Given the description of an element on the screen output the (x, y) to click on. 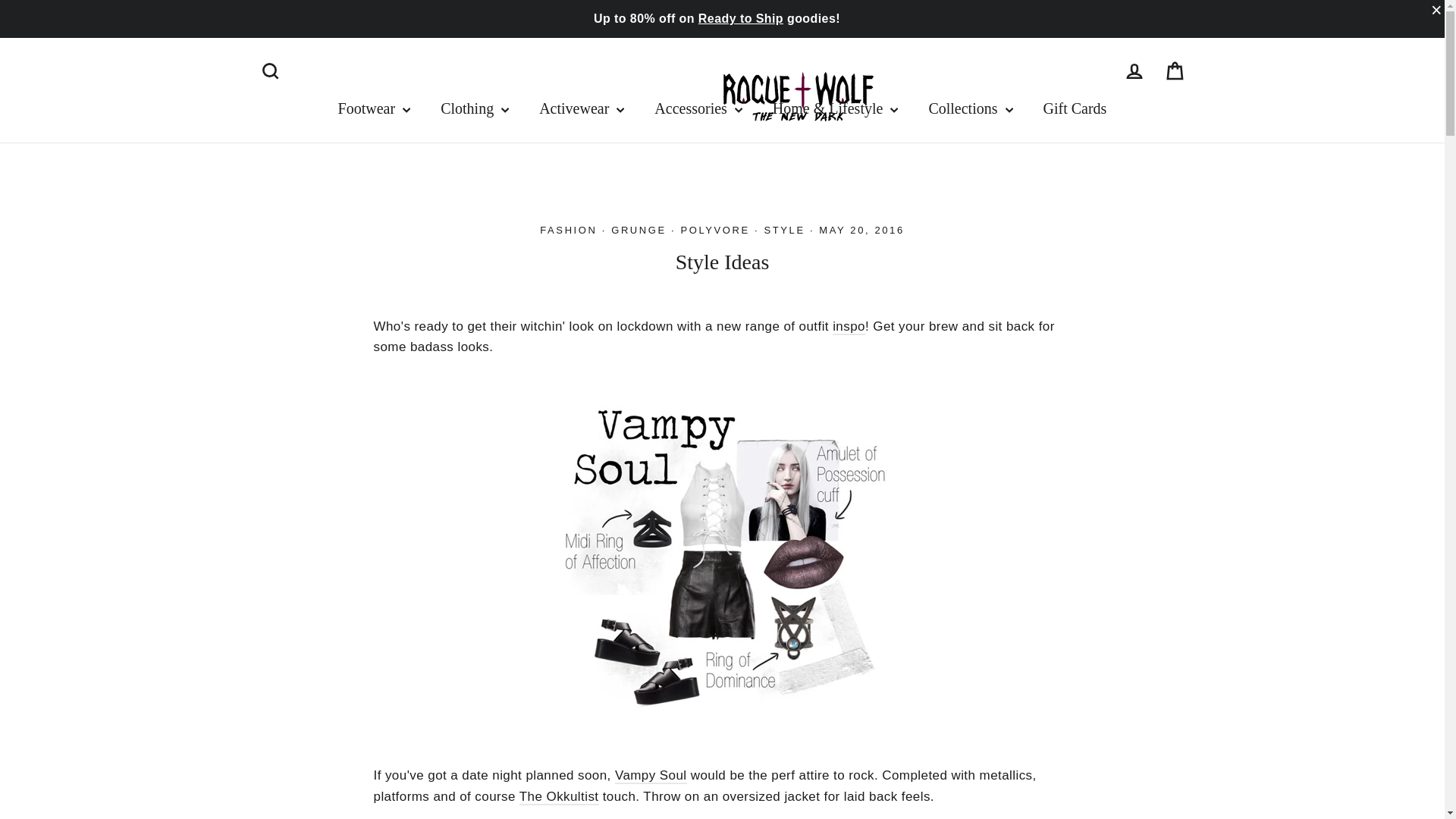
icon-search (270, 70)
account (1134, 70)
Ready to Ship (740, 18)
